Given the description of an element on the screen output the (x, y) to click on. 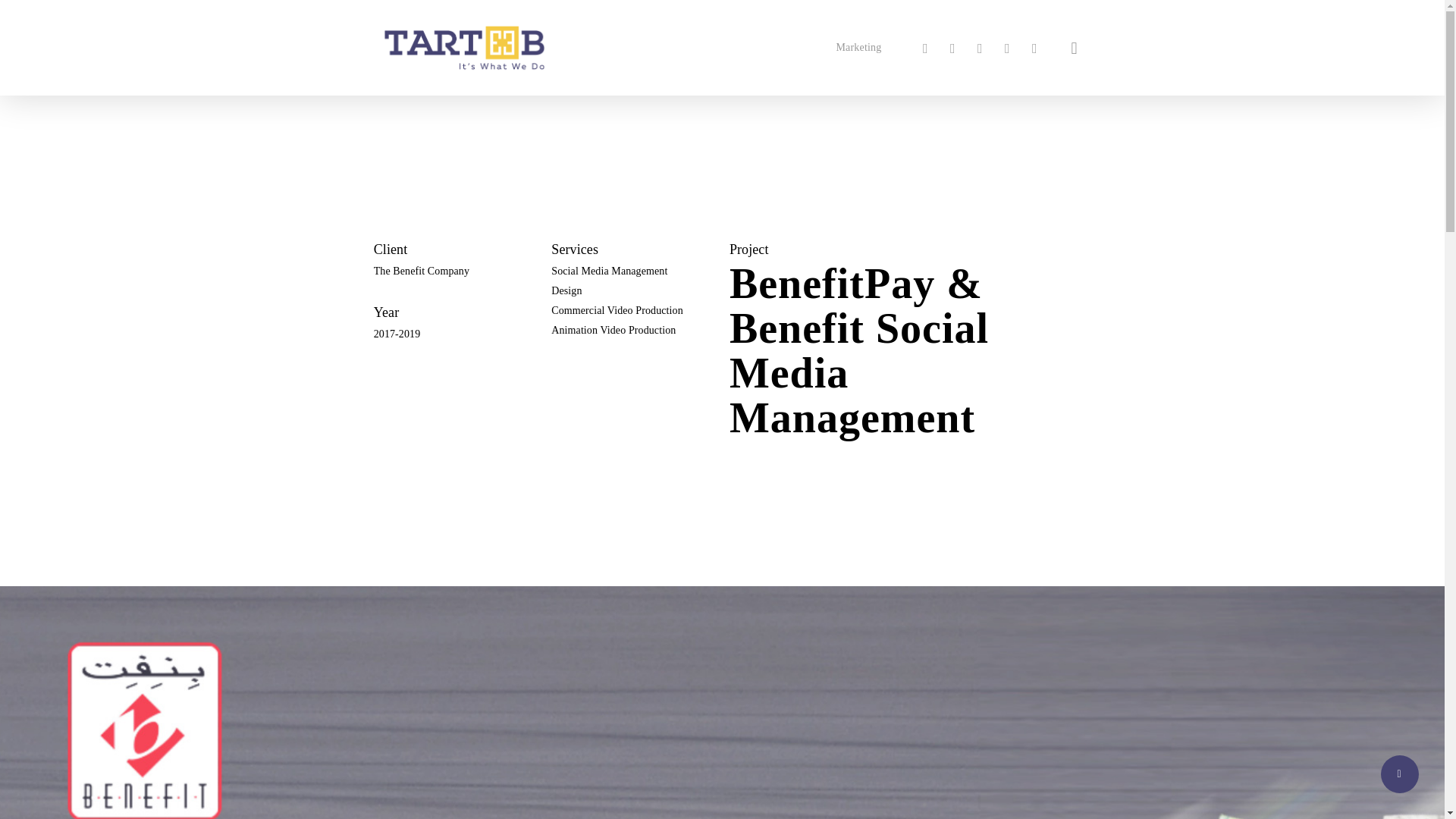
Marketing (857, 47)
